Given the description of an element on the screen output the (x, y) to click on. 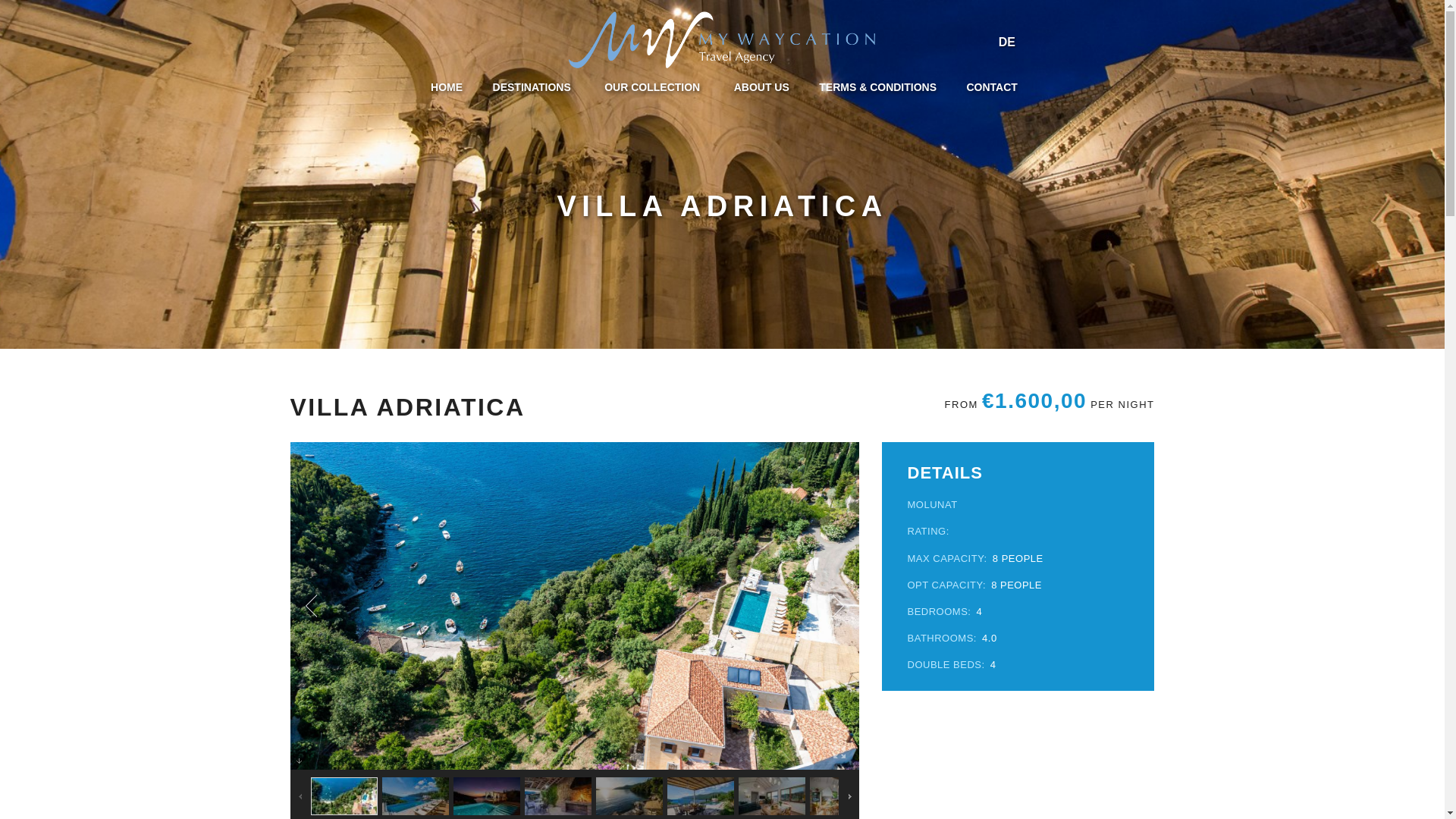
HOME (446, 87)
OUR COLLECTION (653, 87)
CONTACT (991, 87)
ABOUT US (761, 87)
DESTINATIONS (533, 87)
